Given the description of an element on the screen output the (x, y) to click on. 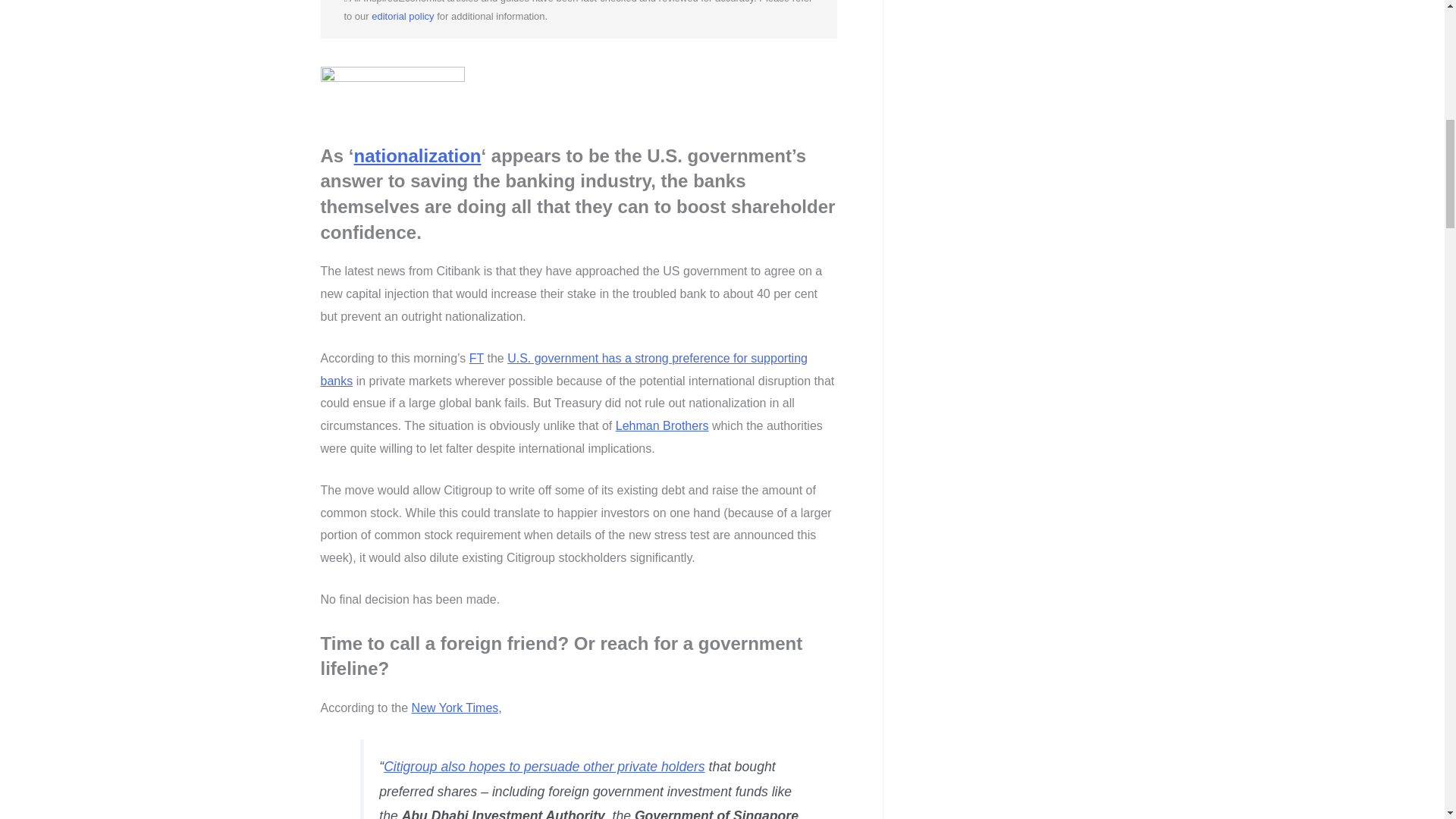
nationalization (417, 155)
FT (475, 358)
editorial policy (402, 16)
